Given the description of an element on the screen output the (x, y) to click on. 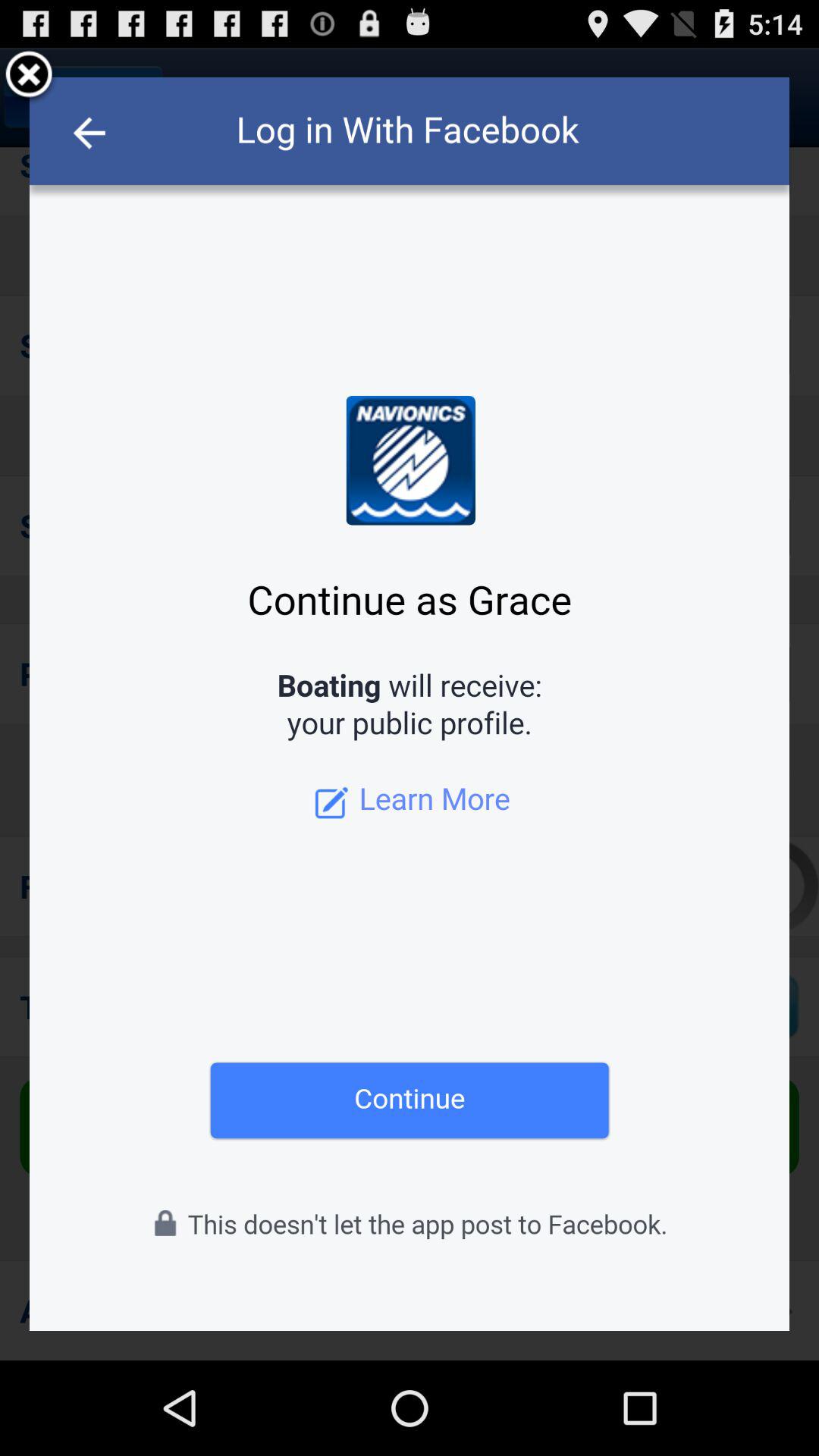
exit (29, 76)
